Given the description of an element on the screen output the (x, y) to click on. 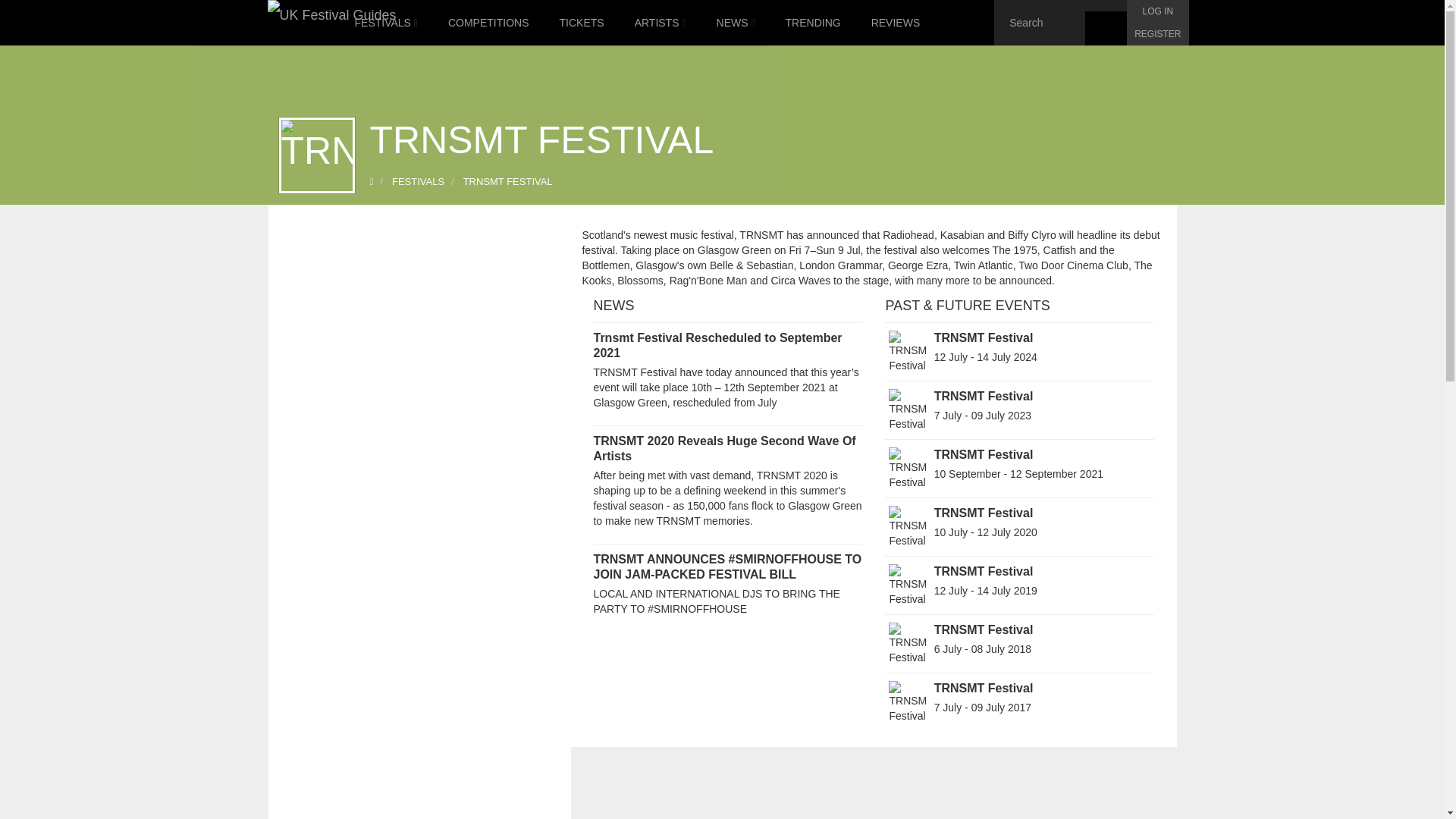
REVIEWS (896, 22)
TRNSMT Festival (983, 337)
TICKETS (582, 22)
Trnsmt Festival Rescheduled to September 2021 (716, 345)
Trending (813, 22)
COMPETITIONS (488, 22)
TRENDING (813, 22)
TRNSMT Festival 2024 (983, 337)
TRNSMT Festival (983, 395)
FESTIVALS (385, 22)
